Given the description of an element on the screen output the (x, y) to click on. 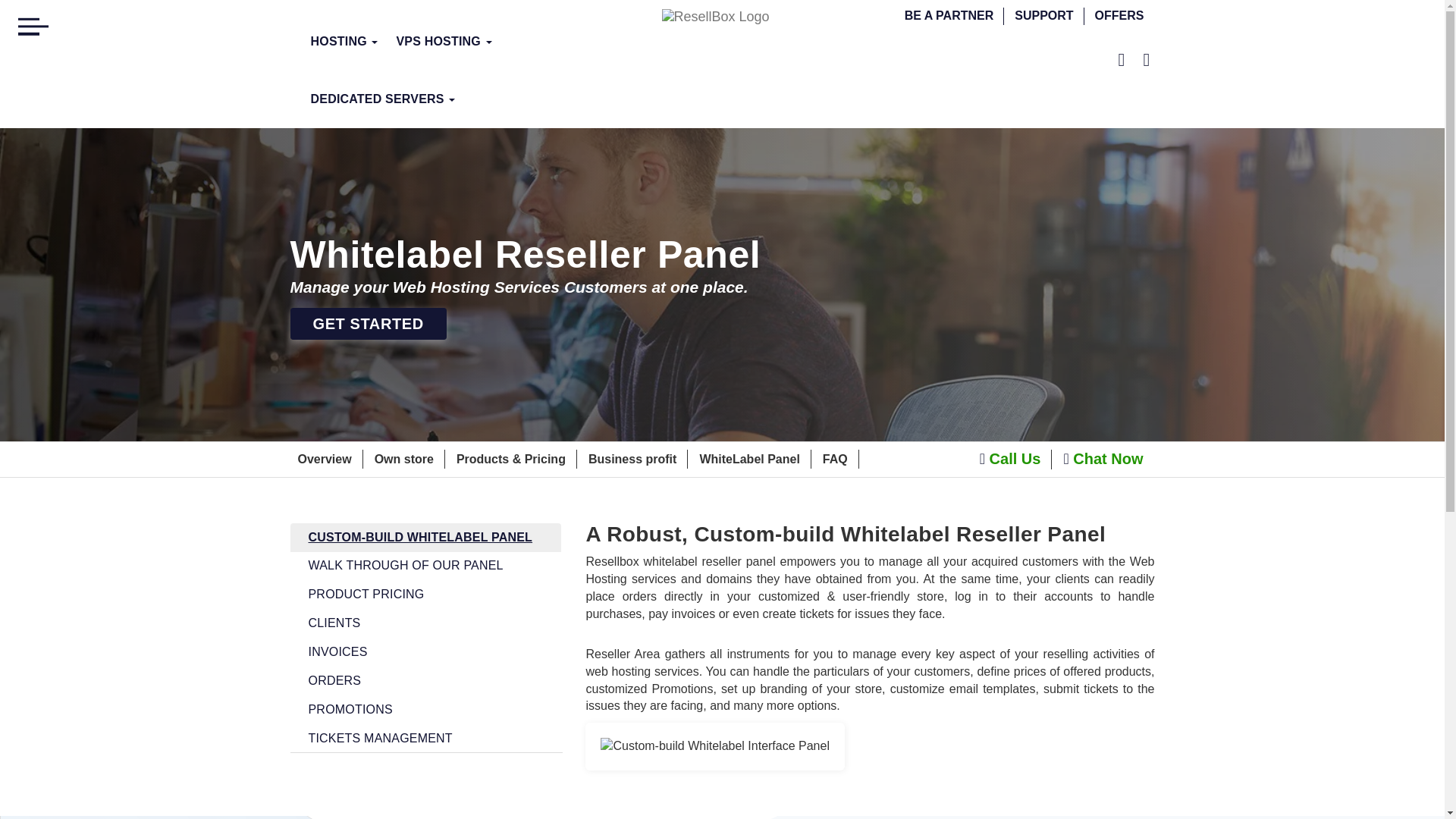
DEDICATED SERVERS (382, 98)
HOSTING (344, 41)
SUPPORT (1043, 15)
VPS HOSTING (443, 41)
GET STARTED (367, 323)
BE A PARTNER (949, 15)
Overview (323, 459)
OFFERS (1119, 15)
